Given the description of an element on the screen output the (x, y) to click on. 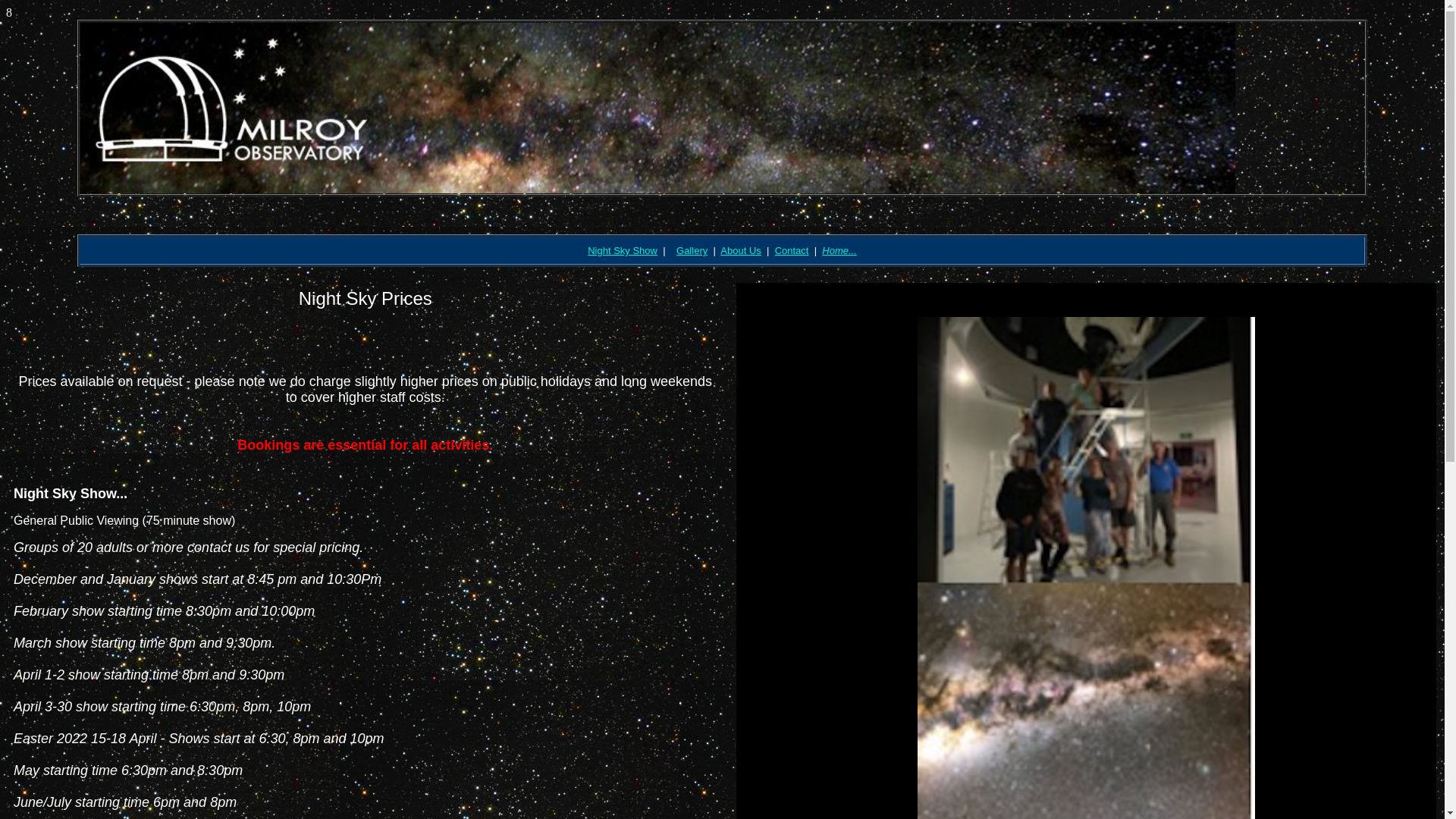
Gallery Element type: text (691, 250)
Contact Element type: text (792, 250)
Home... Element type: text (839, 250)
Night Sky Show Element type: text (622, 250)
About Us Element type: text (740, 250)
